Given the description of an element on the screen output the (x, y) to click on. 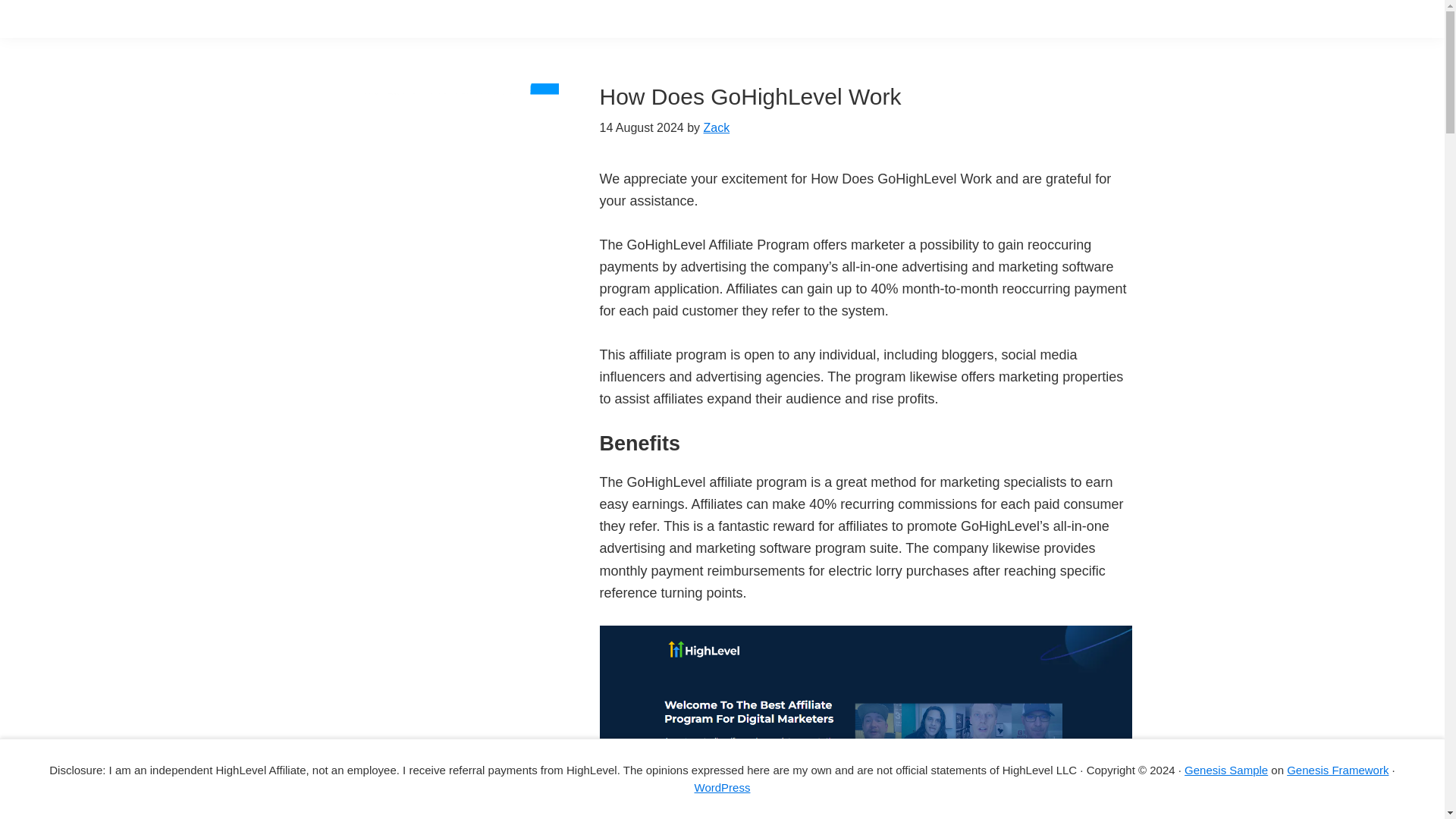
Zack (716, 127)
Genesis Sample (1226, 769)
WordPress (722, 787)
Genesis Framework (1338, 769)
How Does GoHighLevel Work (749, 96)
